Given the description of an element on the screen output the (x, y) to click on. 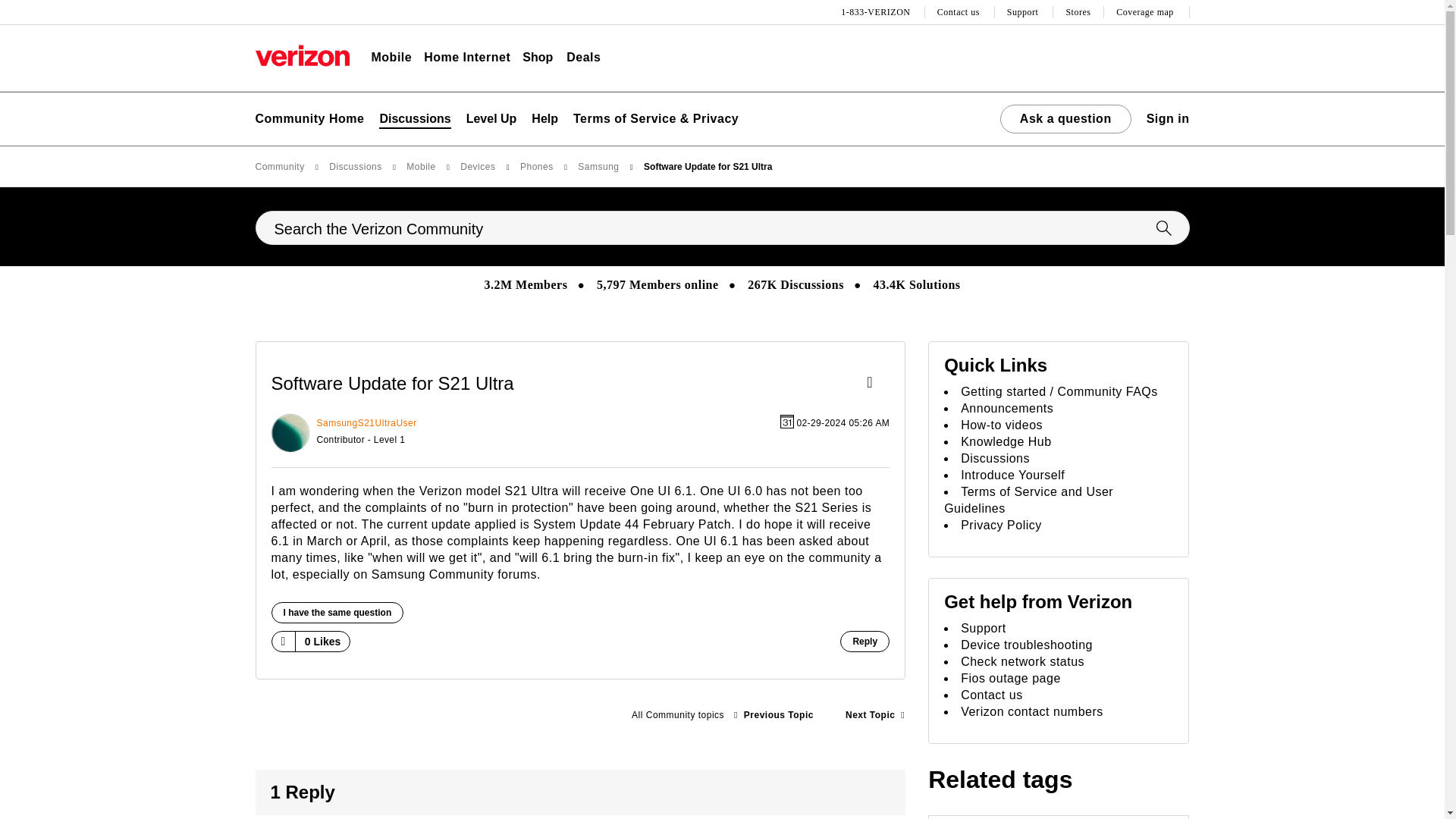
Verizon Home Page (301, 55)
Coverage map (1146, 12)
Click here if you had a similar experience (337, 612)
Show option menu (874, 383)
Click here to give likes to this post. (282, 641)
Voicemsil (773, 714)
Contact us (959, 12)
Home Internet (467, 57)
The total number of likes this post has received. (322, 641)
Mobile (391, 57)
